Given the description of an element on the screen output the (x, y) to click on. 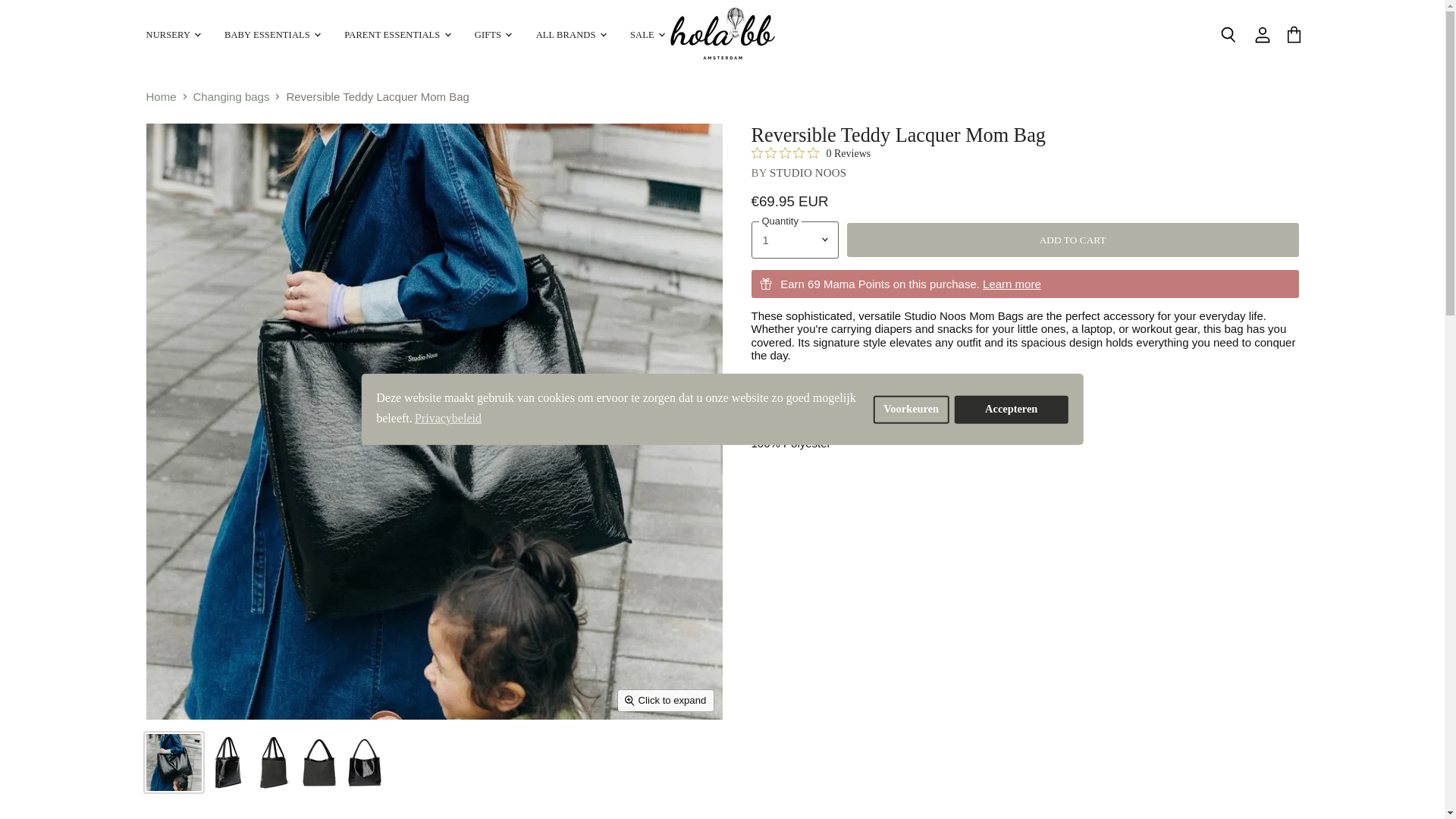
0 Reviews (810, 153)
NURSERY (172, 34)
Studio Noos (807, 173)
BABY ESSENTIALS (271, 34)
